Given the description of an element on the screen output the (x, y) to click on. 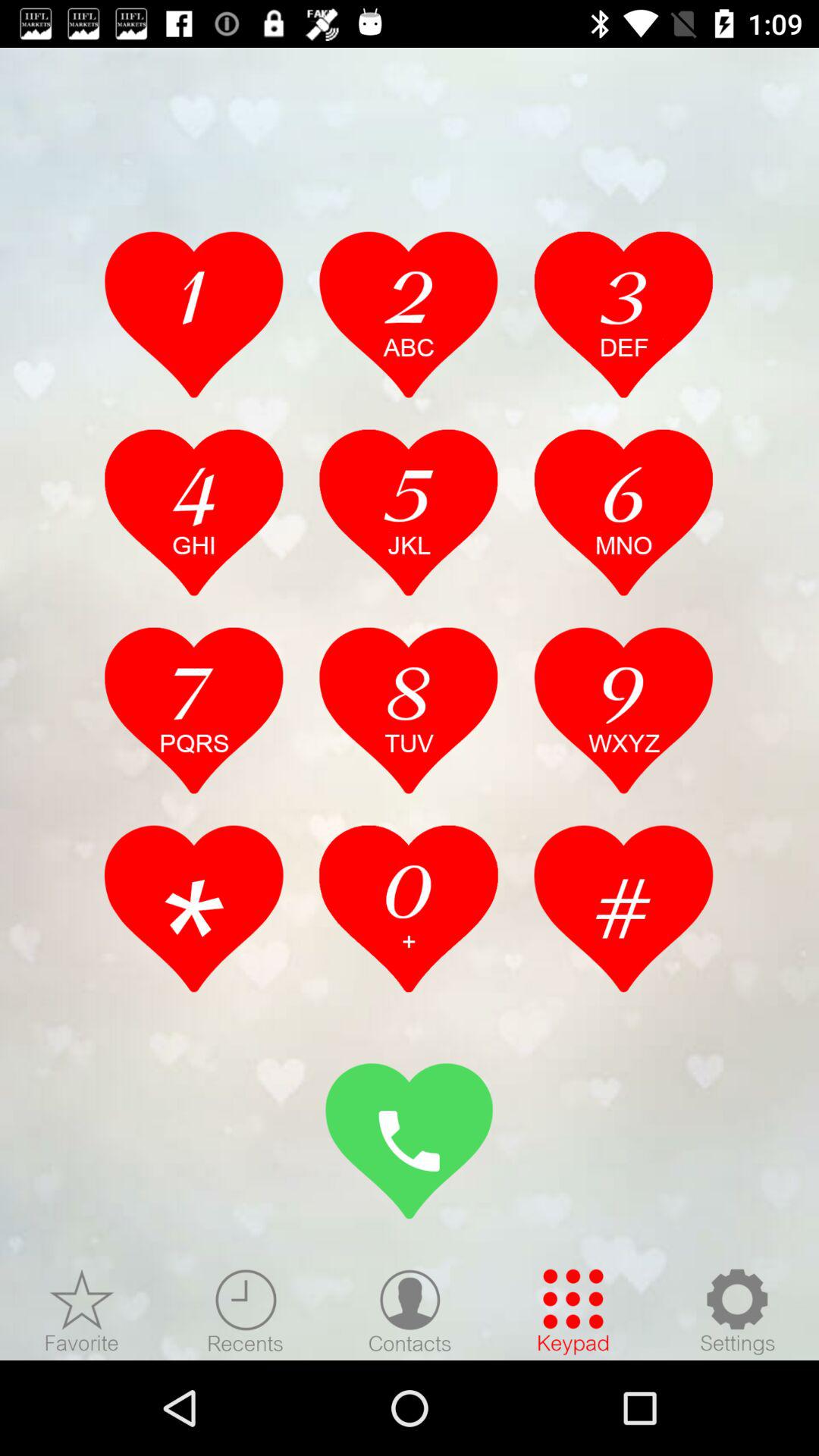
go to num select option (408, 710)
